Given the description of an element on the screen output the (x, y) to click on. 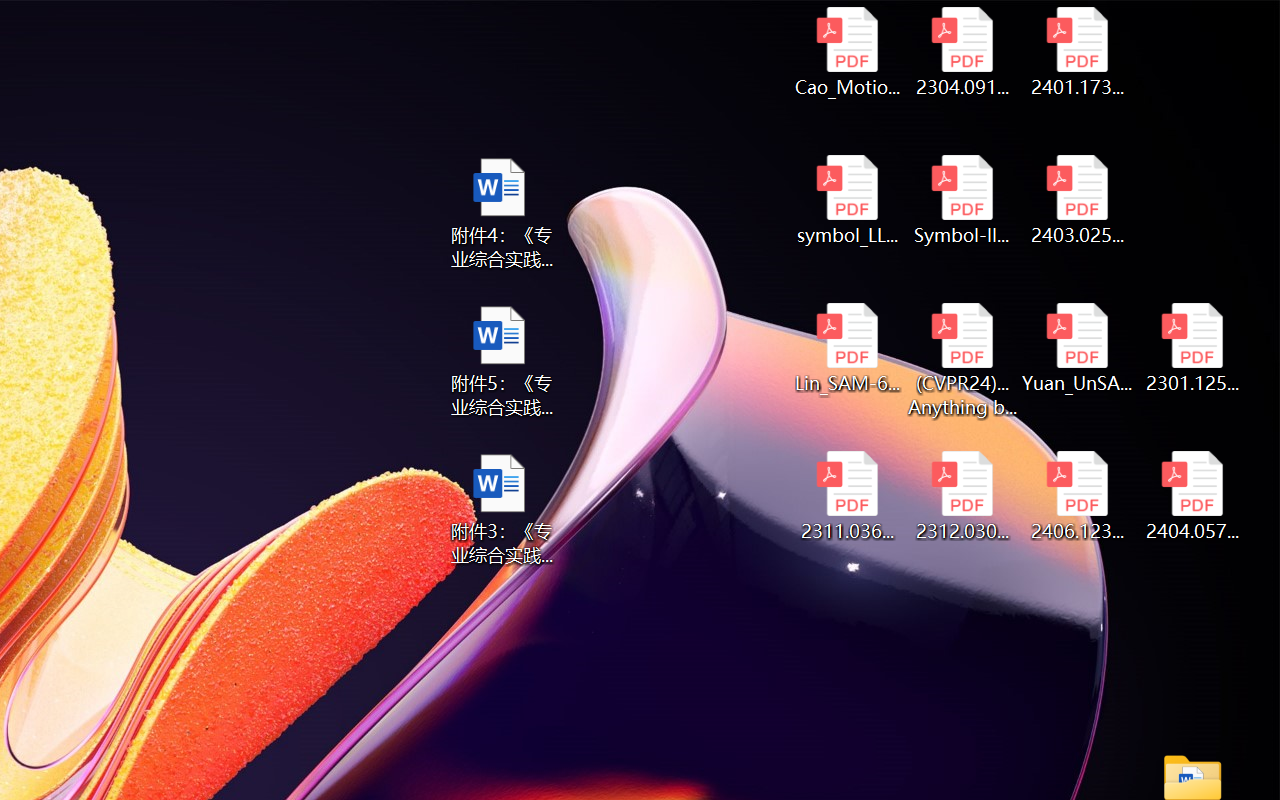
2404.05719v1.pdf (1192, 496)
2311.03658v2.pdf (846, 496)
(CVPR24)Matching Anything by Segmenting Anything.pdf (962, 360)
2406.12373v2.pdf (1077, 496)
Symbol-llm-v2.pdf (962, 200)
2312.03032v2.pdf (962, 496)
2403.02502v1.pdf (1077, 200)
symbol_LLM.pdf (846, 200)
2401.17399v1.pdf (1077, 52)
2304.09121v3.pdf (962, 52)
